Given the description of an element on the screen output the (x, y) to click on. 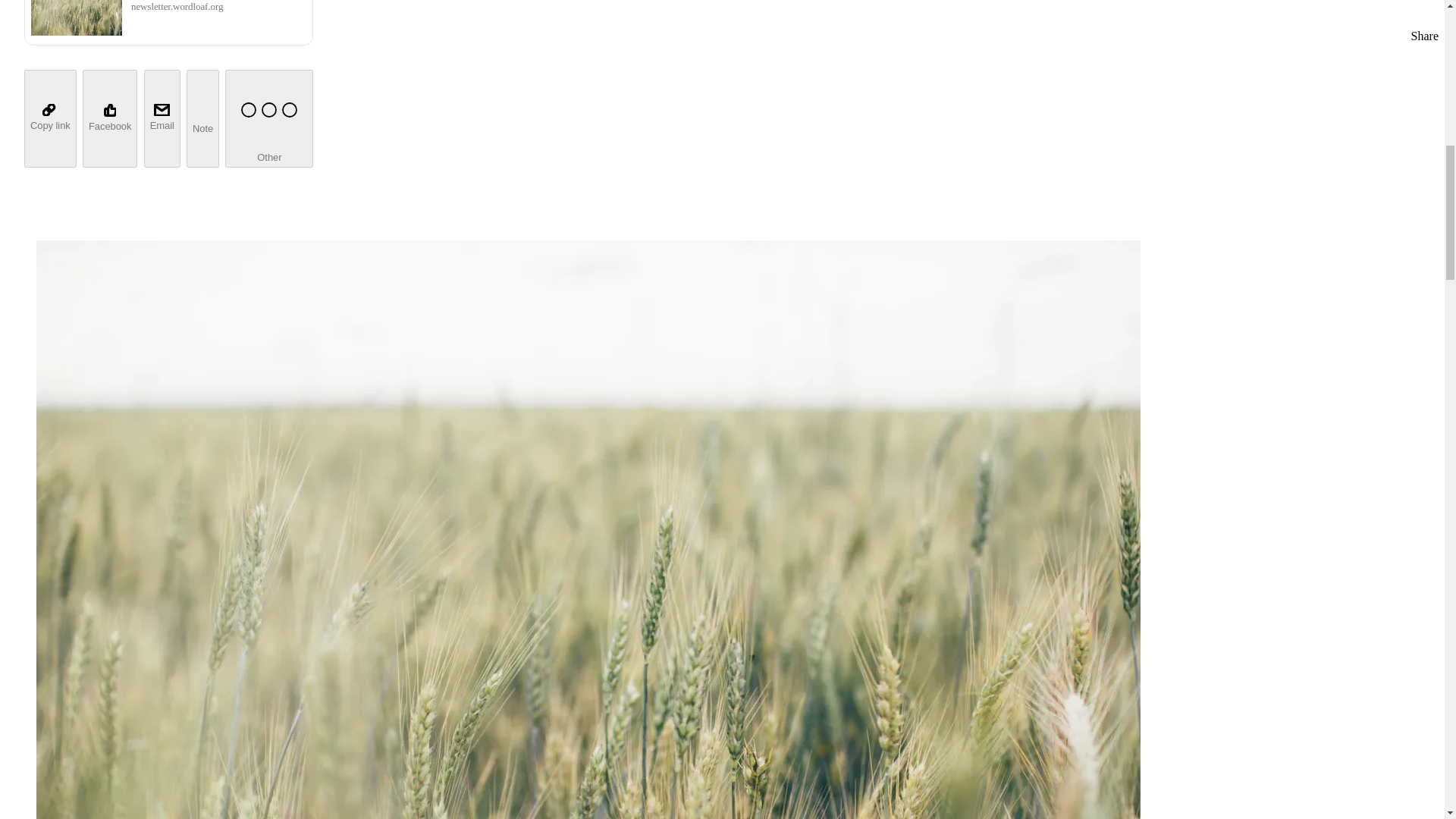
Email (162, 118)
Facebook (109, 118)
Copy link (50, 118)
Note (202, 118)
Other (269, 118)
